Given the description of an element on the screen output the (x, y) to click on. 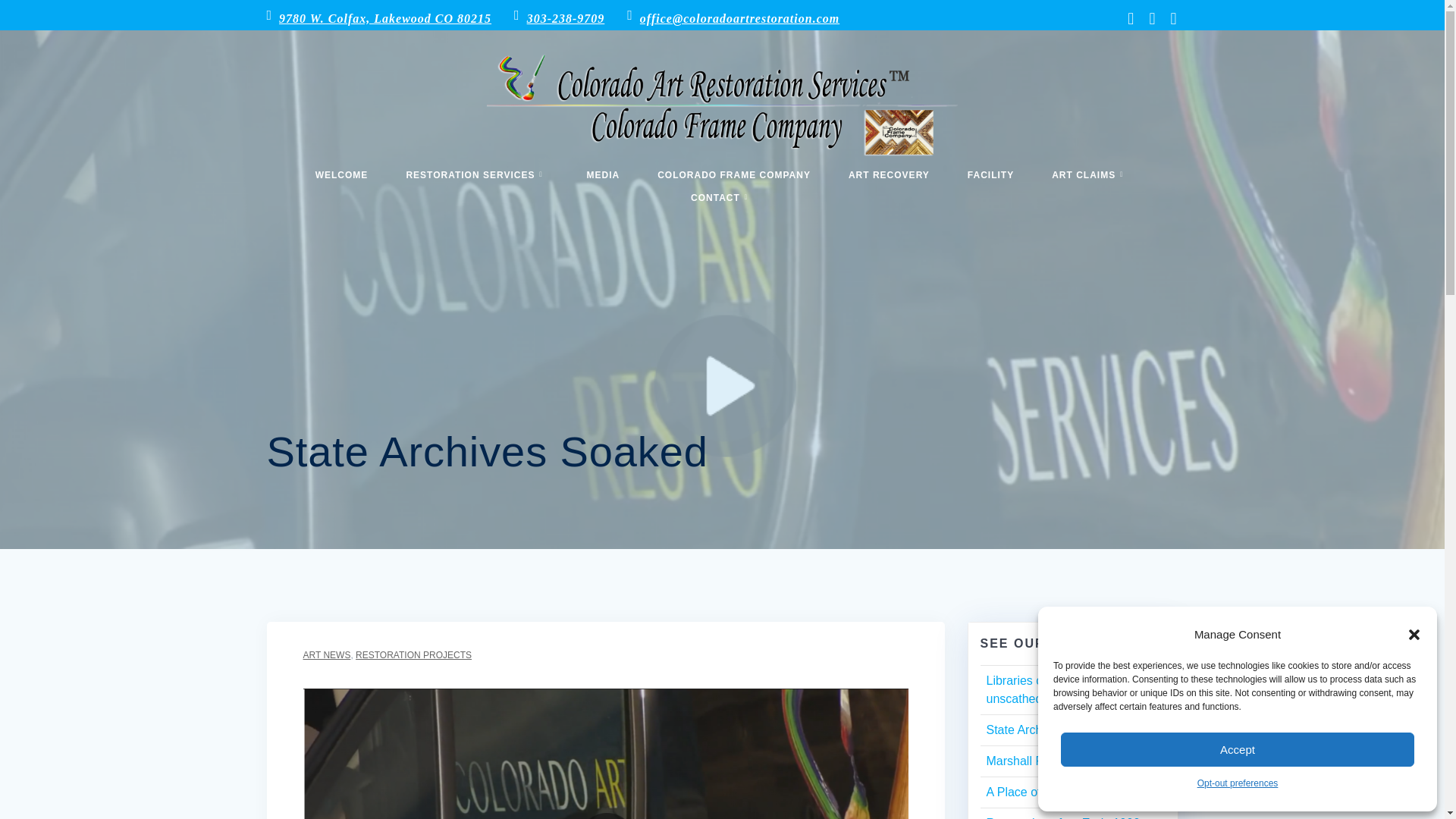
9780 W. Colfax, Lakewood CO 80215 (385, 18)
Opt-out preferences (1237, 782)
ART CLAIMS (1090, 174)
303-238-9709 (566, 18)
FACILITY (990, 174)
CONTACT (721, 197)
COLORADO FRAME COMPANY (733, 174)
Accept (1237, 749)
RESTORATION SERVICES (476, 174)
ART RECOVERY (888, 174)
MEDIA (603, 174)
WELCOME (341, 174)
